Given the description of an element on the screen output the (x, y) to click on. 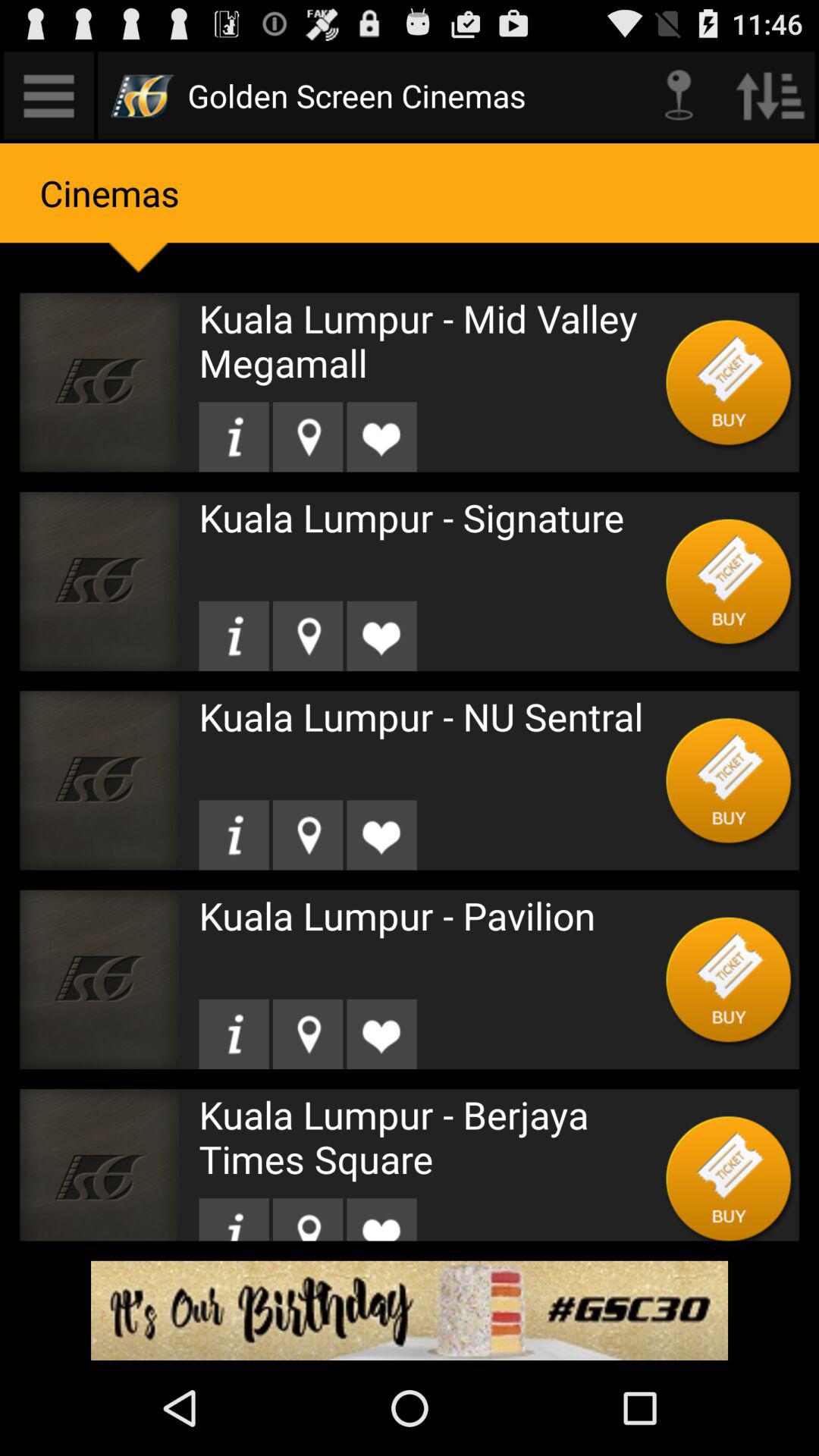
get information (234, 636)
